Given the description of an element on the screen output the (x, y) to click on. 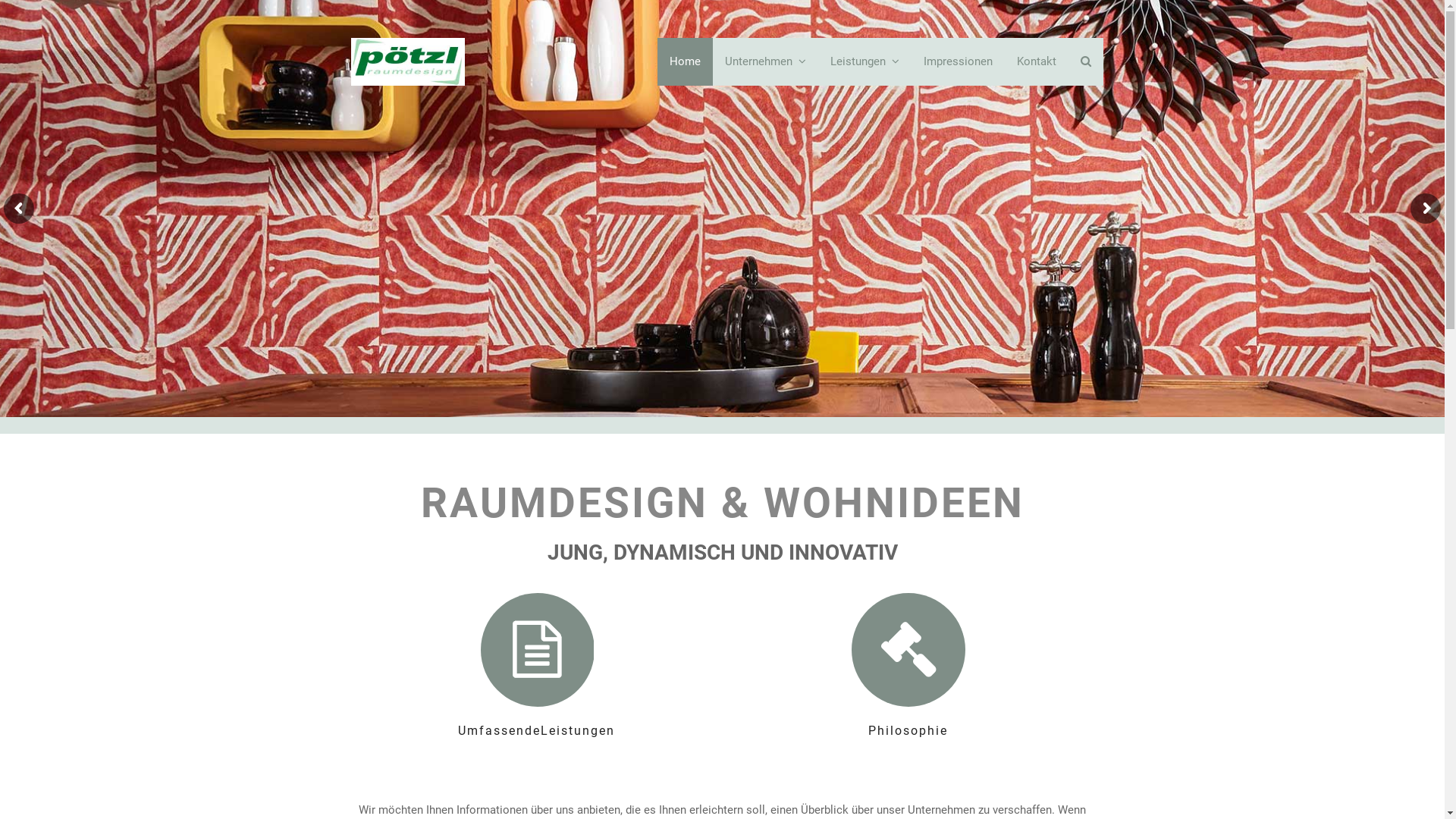
Leistungen Element type: text (863, 61)
Philosophie Element type: text (907, 666)
Impressionen Element type: text (957, 61)
Unternehmen Element type: text (765, 61)
UmfassendeLeistungen Element type: text (535, 666)
Home Element type: text (684, 61)
Kontakt Element type: text (1035, 61)
